Given the description of an element on the screen output the (x, y) to click on. 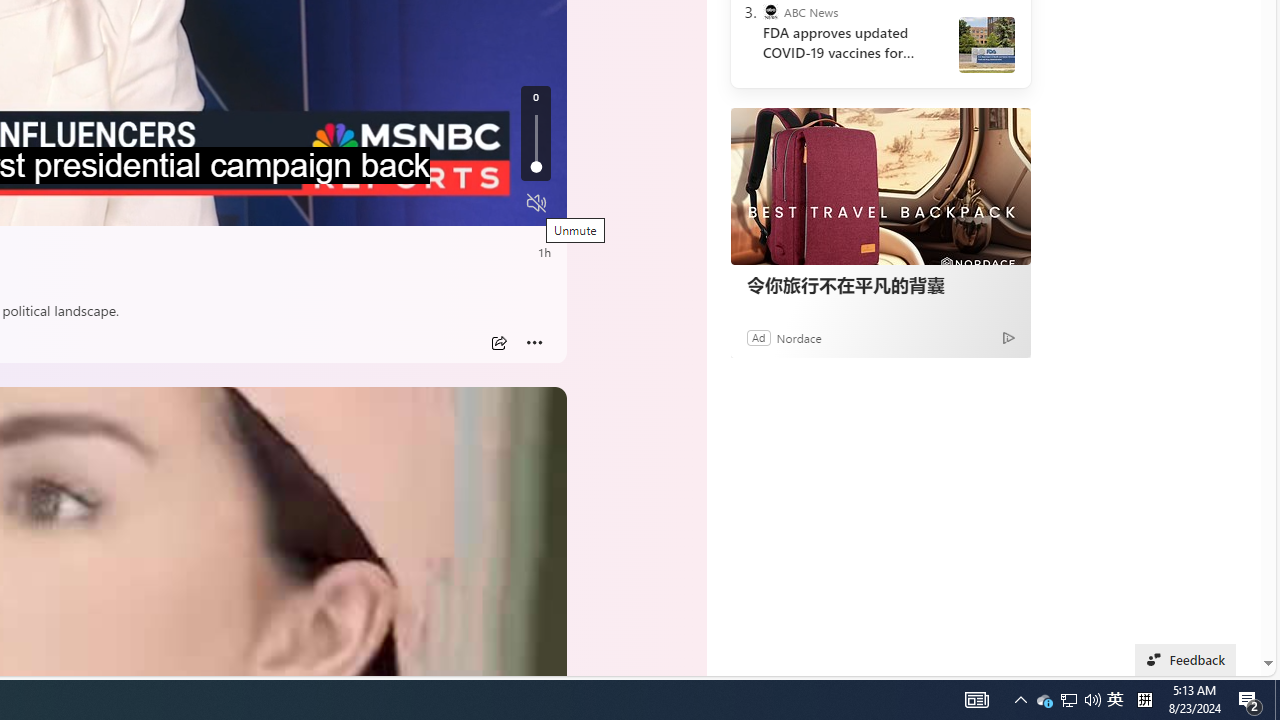
Share (498, 343)
